Given the description of an element on the screen output the (x, y) to click on. 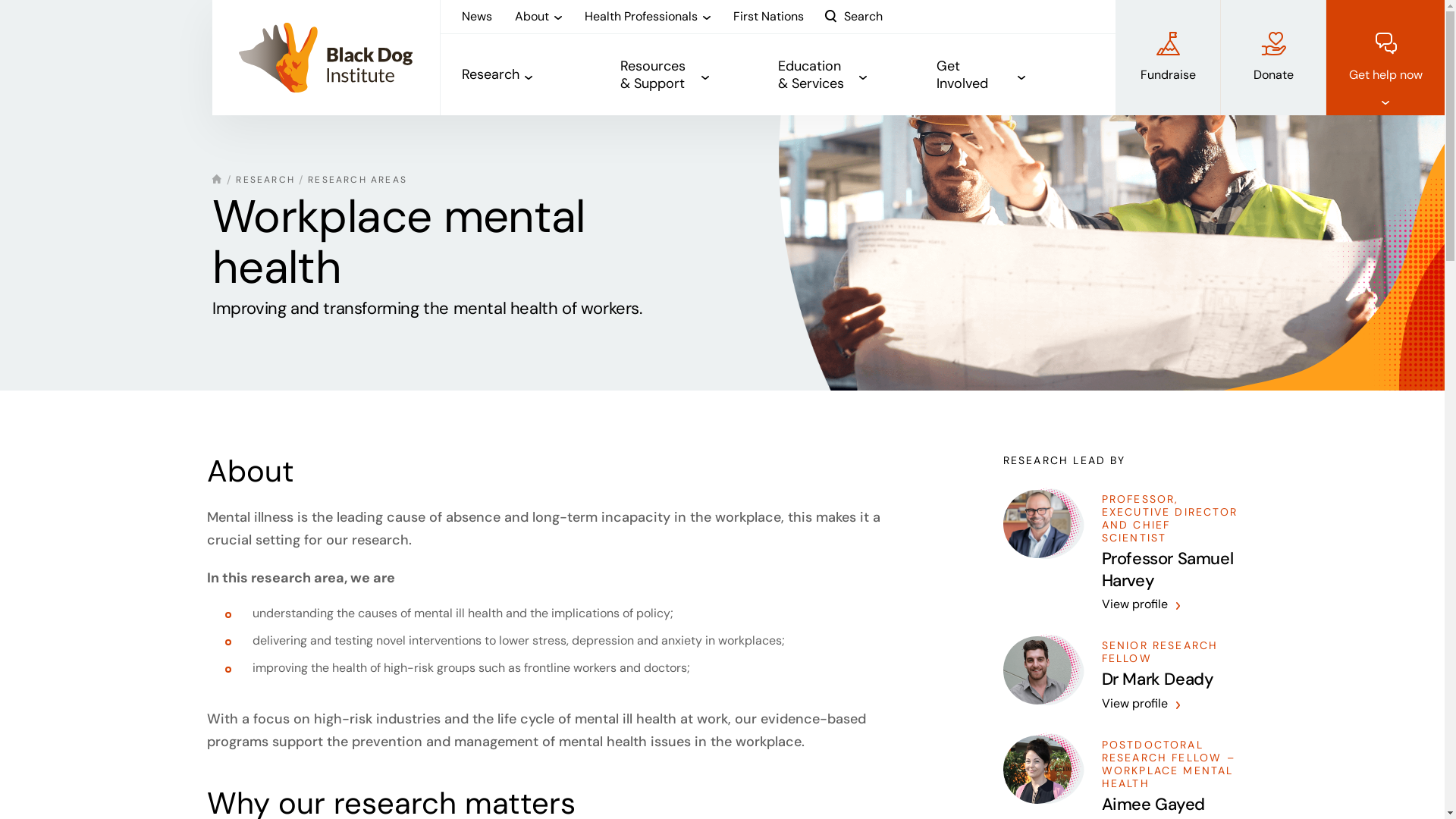
Resources & Support Element type: text (699, 74)
View profile Element type: text (1140, 604)
Research Element type: text (540, 74)
Health Professionals Element type: text (647, 16)
About Element type: text (537, 16)
Get Involved Element type: text (1014, 74)
Get help now Element type: text (1385, 57)
Donate Element type: text (1272, 57)
RESEARCH Element type: text (264, 179)
Fundraise Element type: text (1167, 57)
First Nations Element type: text (768, 16)
Education & Services Element type: text (857, 74)
SENIOR RESEARCH FELLOW
Dr Mark Deady
View profile Element type: text (1119, 674)
News Element type: text (476, 16)
RESEARCH AREAS Element type: text (357, 179)
View profile Element type: text (1140, 703)
